Given the description of an element on the screen output the (x, y) to click on. 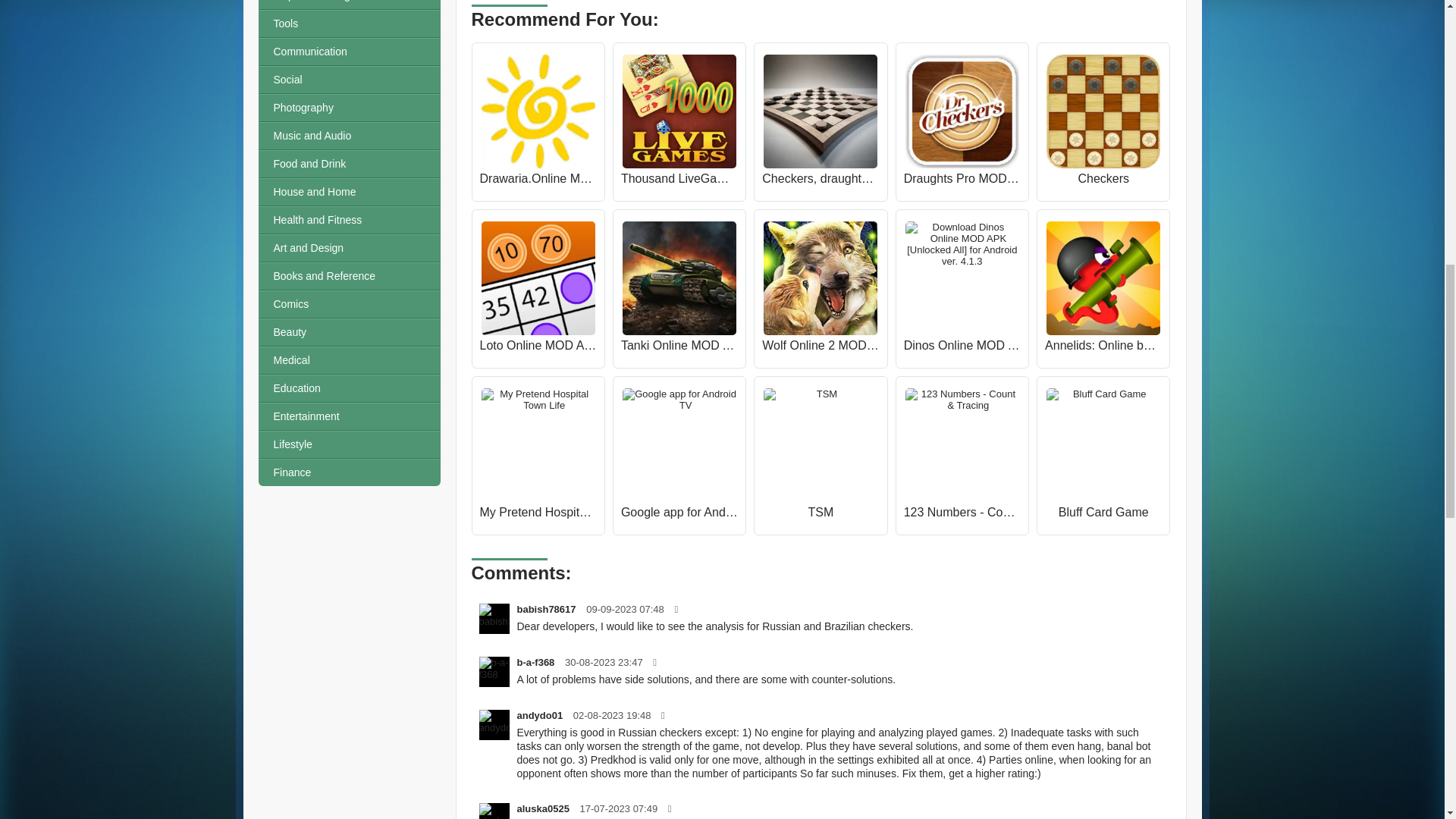
Books and Reference (348, 276)
Health and Fitness (348, 220)
Food and Drink (348, 163)
Medical (348, 360)
Beauty (348, 332)
Social (348, 80)
Education (348, 388)
Maps and Navigation (348, 4)
Lifestyle (348, 444)
Communication (348, 51)
Tools (348, 23)
Checkers  (1103, 178)
Art and Design (348, 248)
Music and Audio (348, 135)
Photography (348, 108)
